Given the description of an element on the screen output the (x, y) to click on. 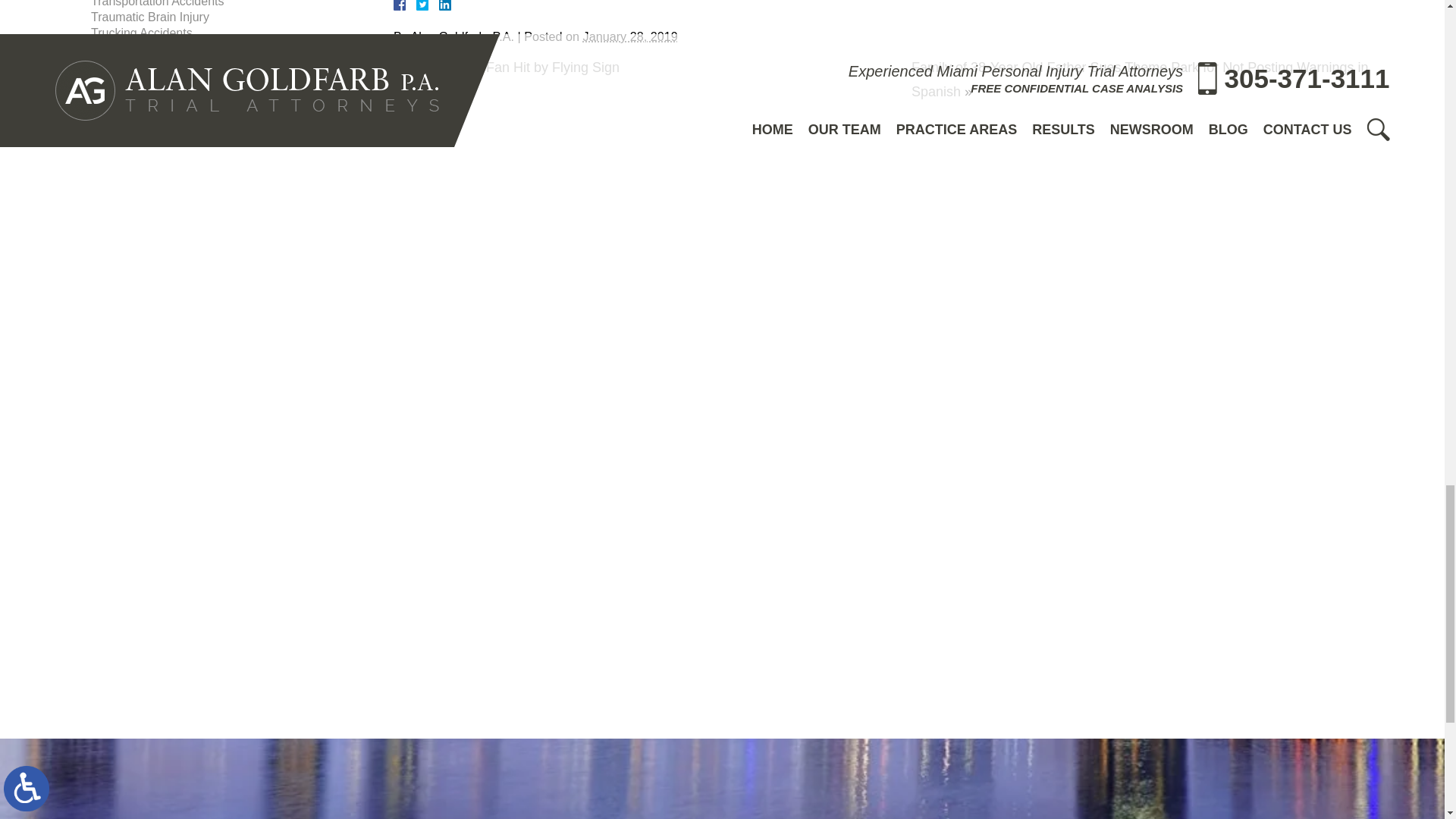
Facebook (417, 5)
2019-01-28T10:32:03-0800 (630, 35)
Twitter (428, 5)
LinkedIn (438, 5)
